Given the description of an element on the screen output the (x, y) to click on. 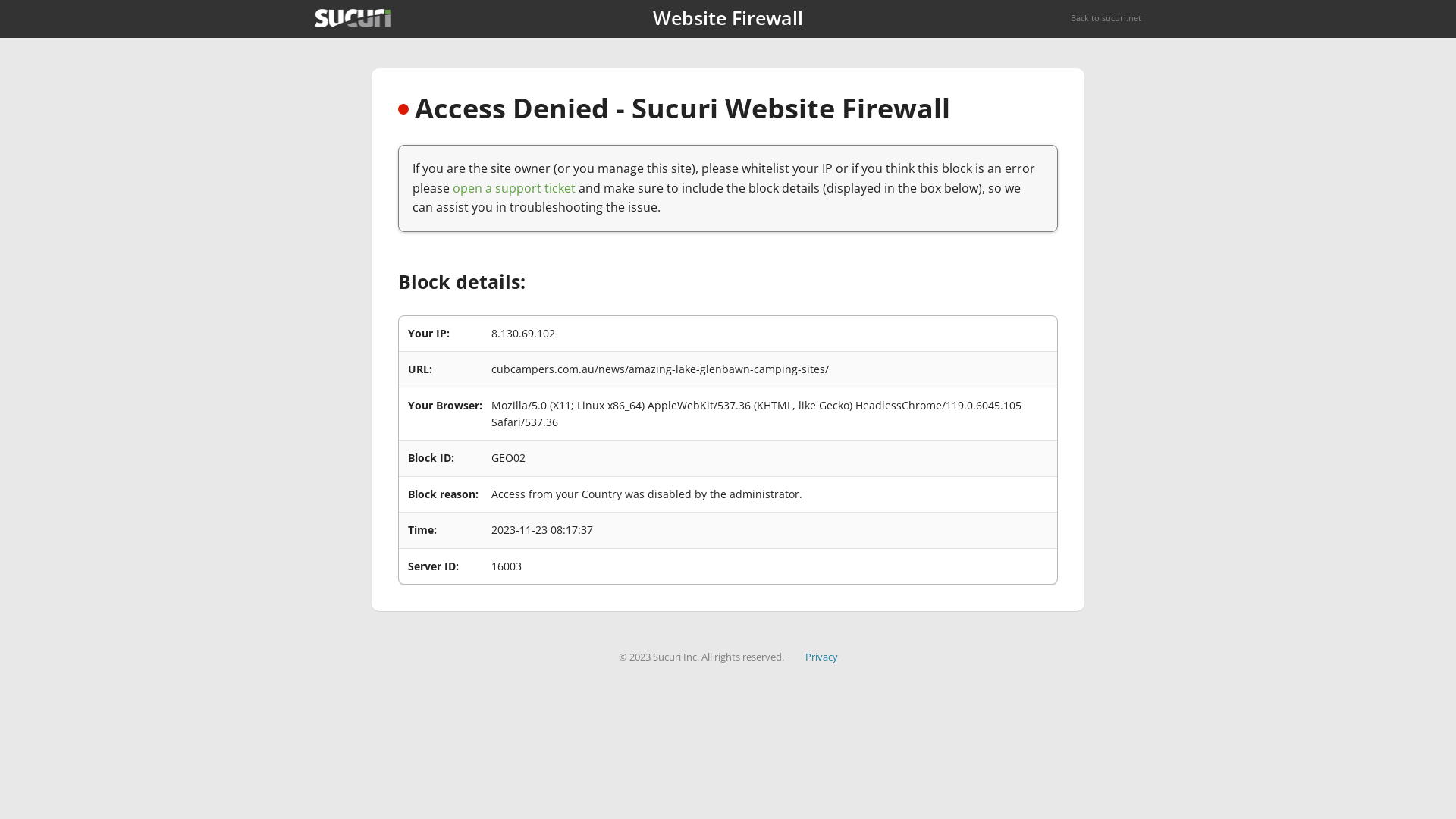
open a support ticket Element type: text (513, 187)
Privacy Element type: text (821, 656)
Back to sucuri.net Element type: text (1105, 18)
